Given the description of an element on the screen output the (x, y) to click on. 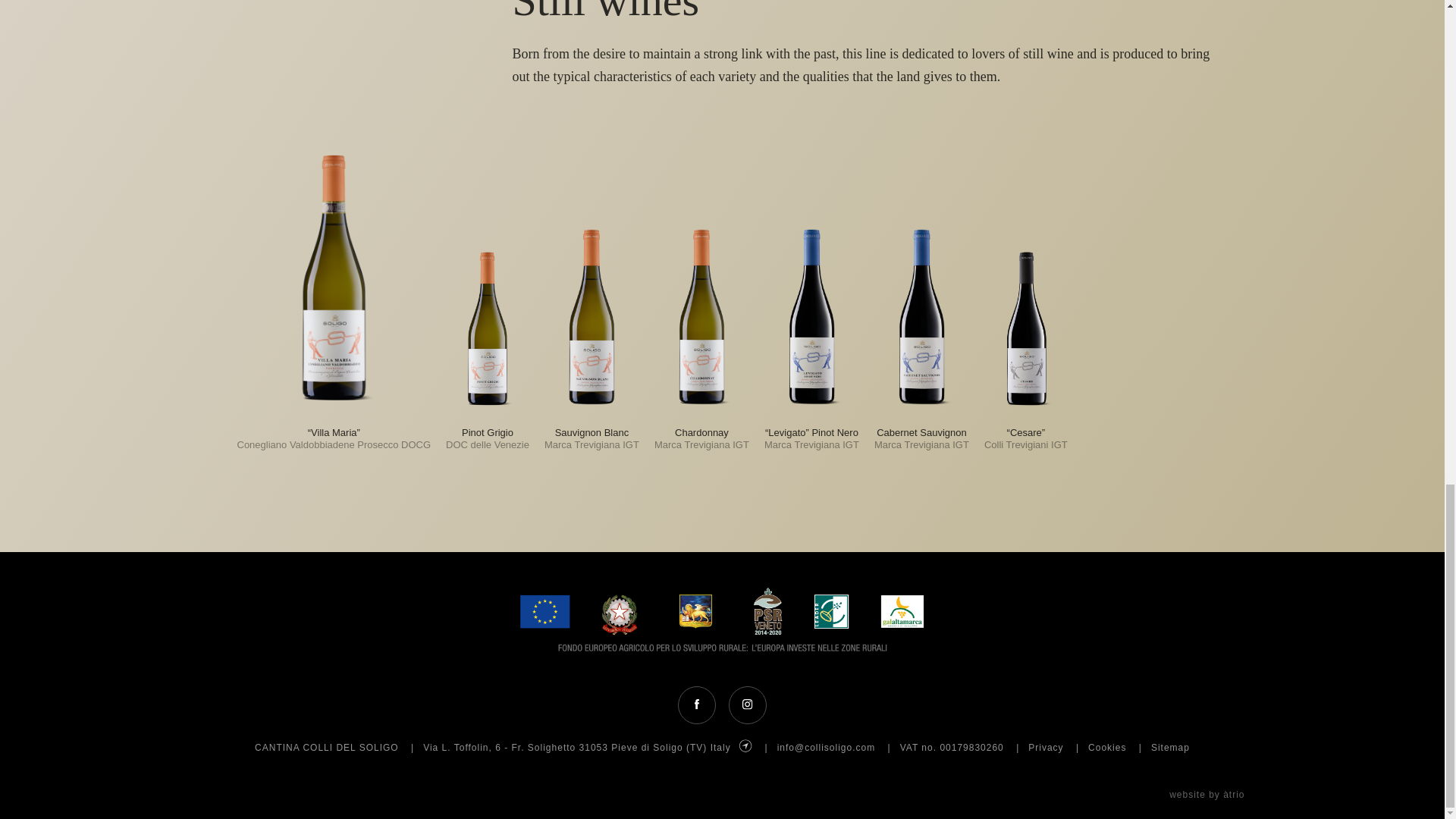
Legal data (950, 747)
Fondo Europeo (722, 619)
Instagram (747, 704)
VAT number (917, 747)
